Given the description of an element on the screen output the (x, y) to click on. 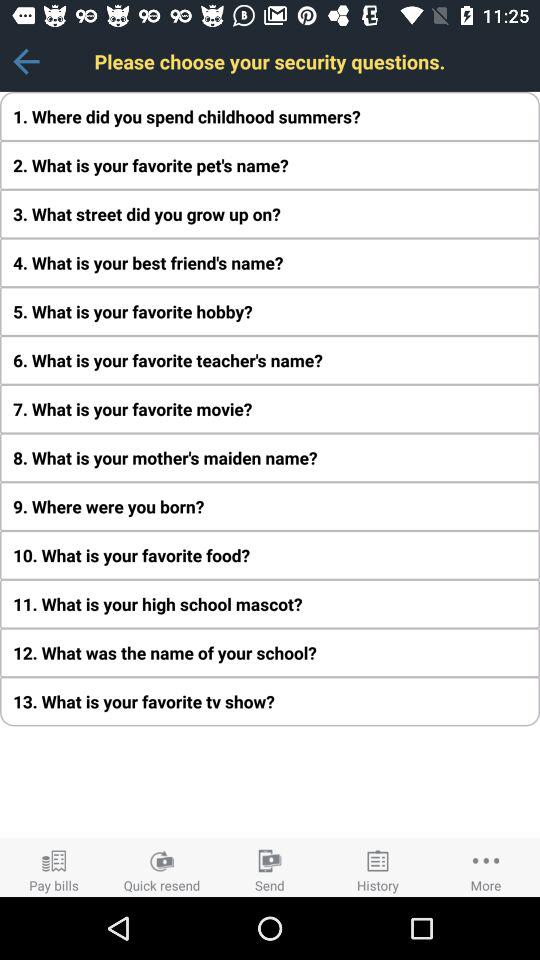
select the third icon which is at the bottom center (270, 867)
go to the icon on the top left corner (26, 61)
